Given the description of an element on the screen output the (x, y) to click on. 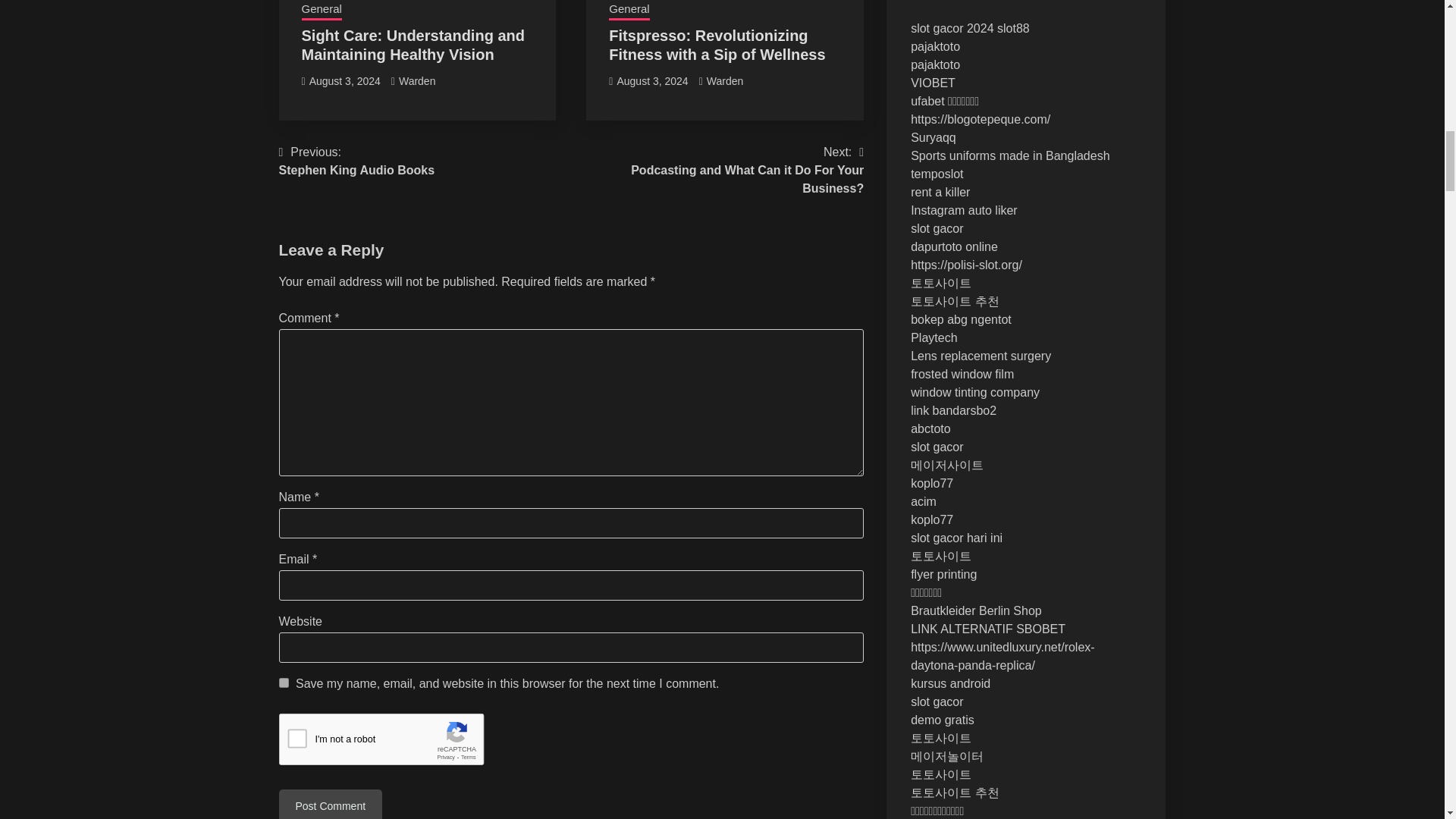
Warden (725, 80)
August 3, 2024 (344, 80)
August 3, 2024 (651, 80)
reCAPTCHA (394, 743)
Warden (416, 80)
General (628, 10)
yes (283, 682)
General (321, 10)
Sight Care: Understanding and Maintaining Healthy Vision (716, 170)
Fitspresso: Revolutionizing Fitness with a Sip of Wellness (357, 161)
Post Comment (412, 45)
Post Comment (716, 45)
